Given the description of an element on the screen output the (x, y) to click on. 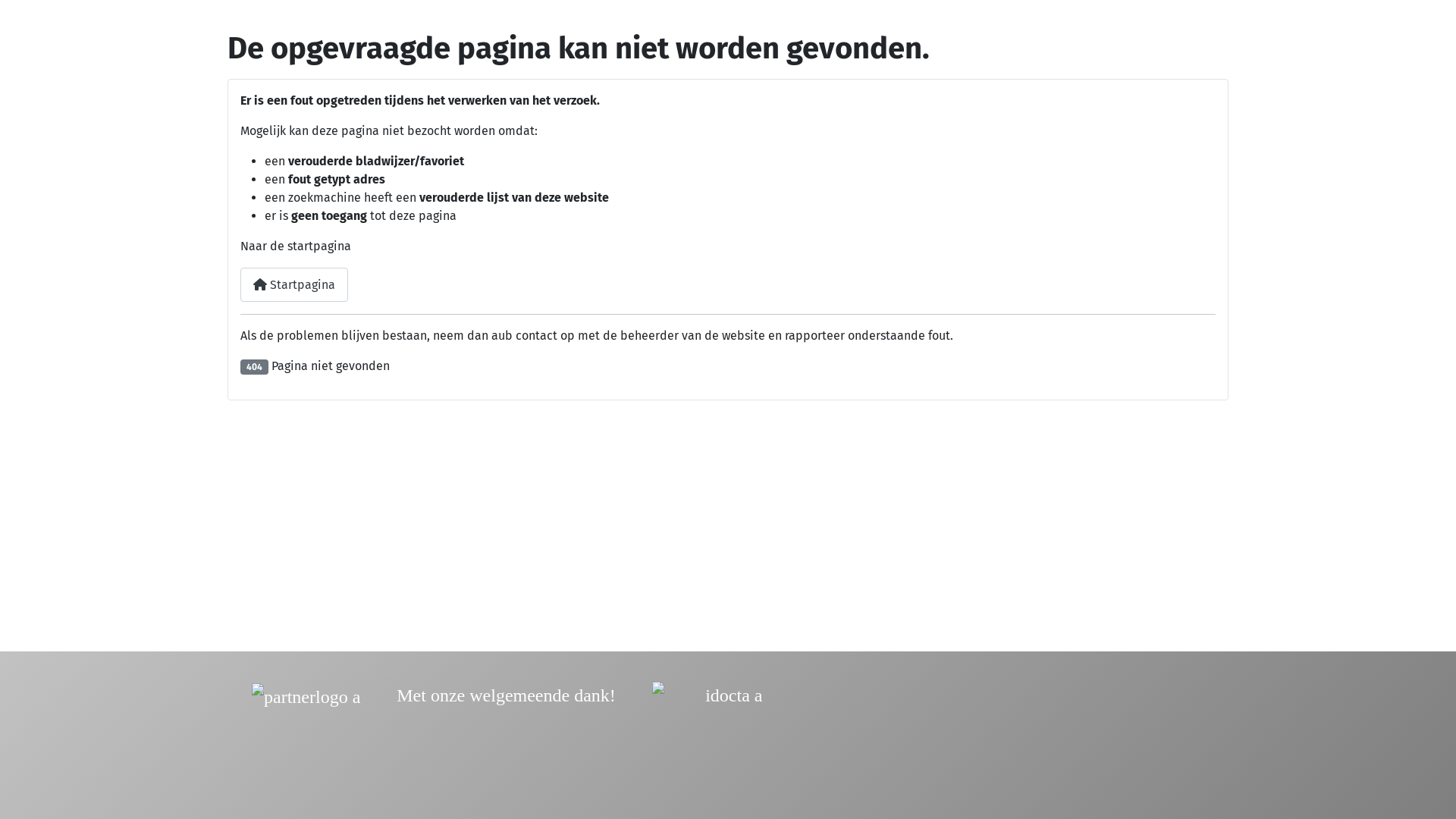
Startpagina Element type: text (294, 284)
